Given the description of an element on the screen output the (x, y) to click on. 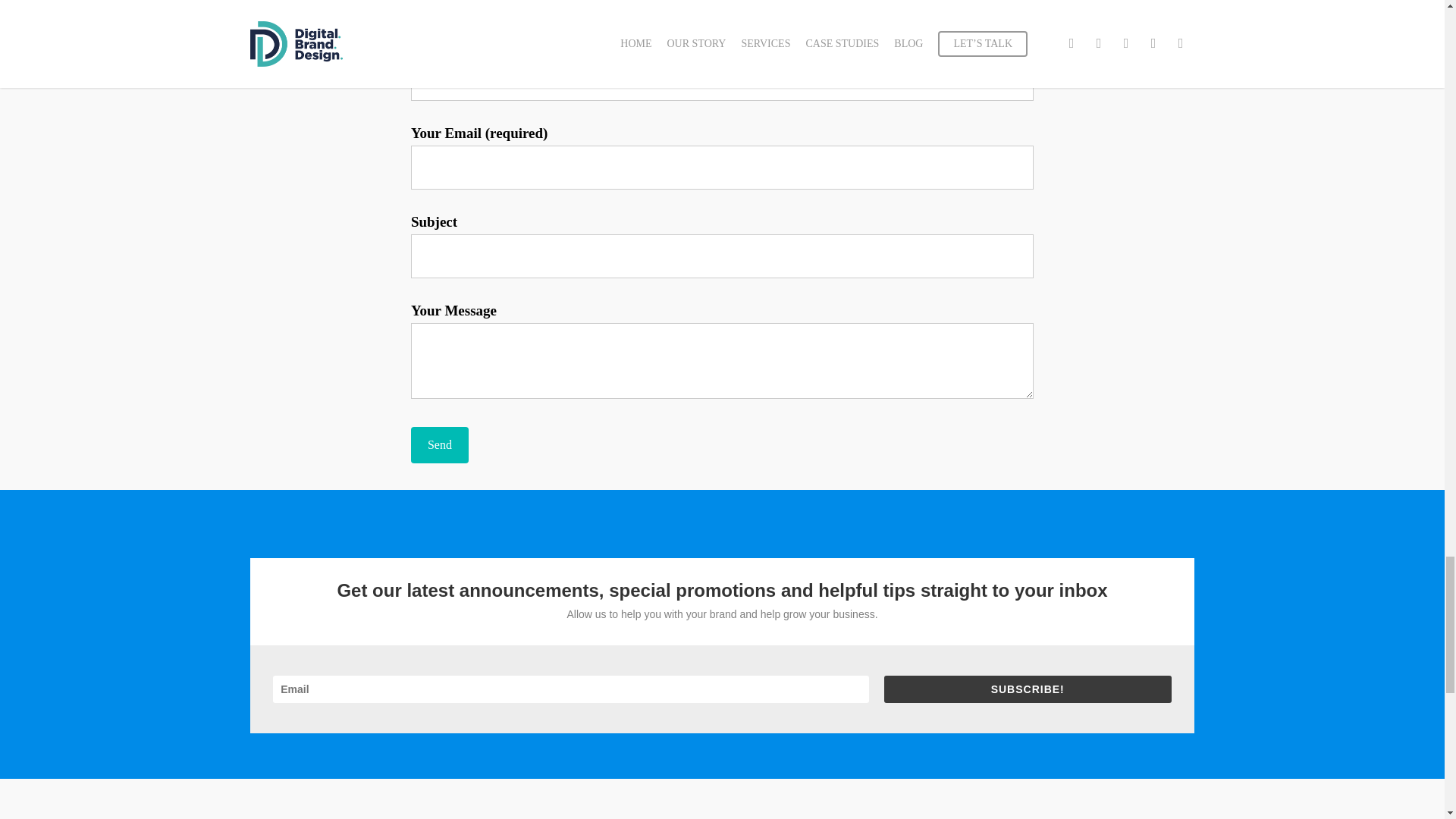
Send (439, 444)
